Given the description of an element on the screen output the (x, y) to click on. 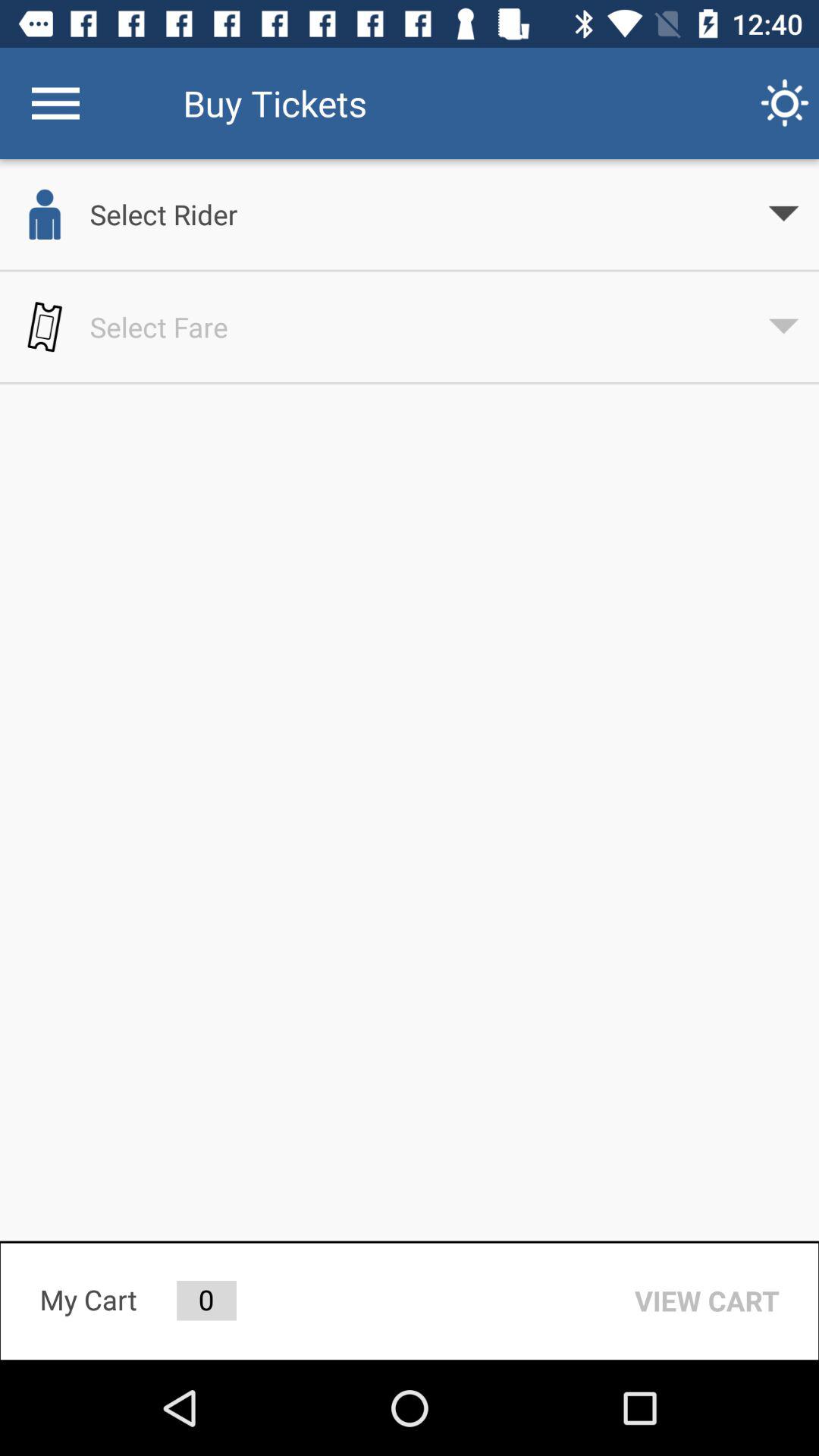
tap icon to the left of buy tickets (55, 103)
